Given the description of an element on the screen output the (x, y) to click on. 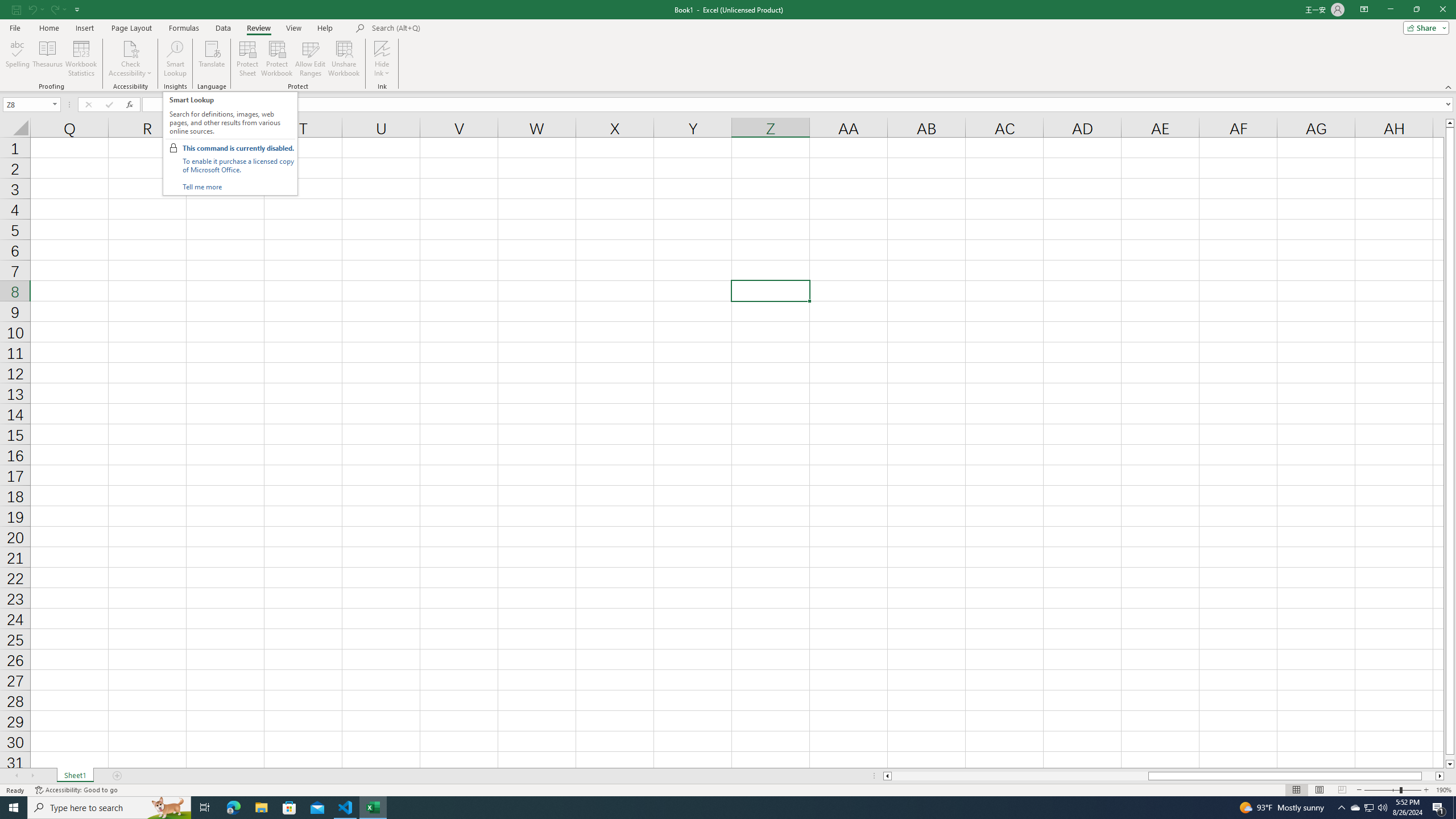
Workbook Statistics (81, 58)
Unshare Workbook (344, 58)
Spelling... (17, 58)
